Given the description of an element on the screen output the (x, y) to click on. 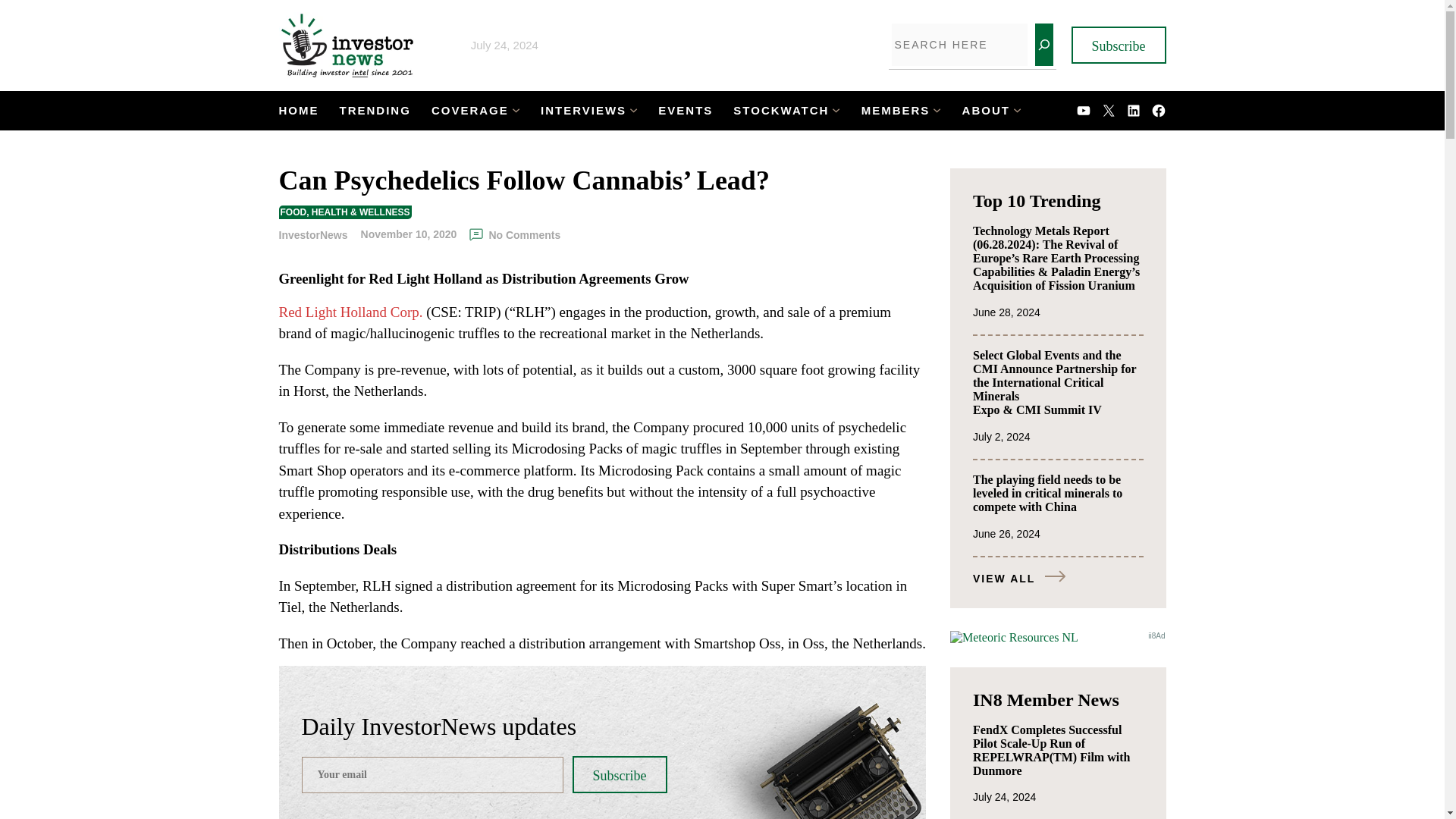
COVERAGE (469, 110)
ABOUT (986, 110)
Subscribe (1118, 44)
YouTube (1080, 110)
HOME (298, 110)
INTERVIEWS (583, 110)
STOCKWATCH (780, 110)
Subscribe (619, 774)
EVENTS (685, 110)
TRENDING (374, 110)
MEMBERS (895, 110)
